Given the description of an element on the screen output the (x, y) to click on. 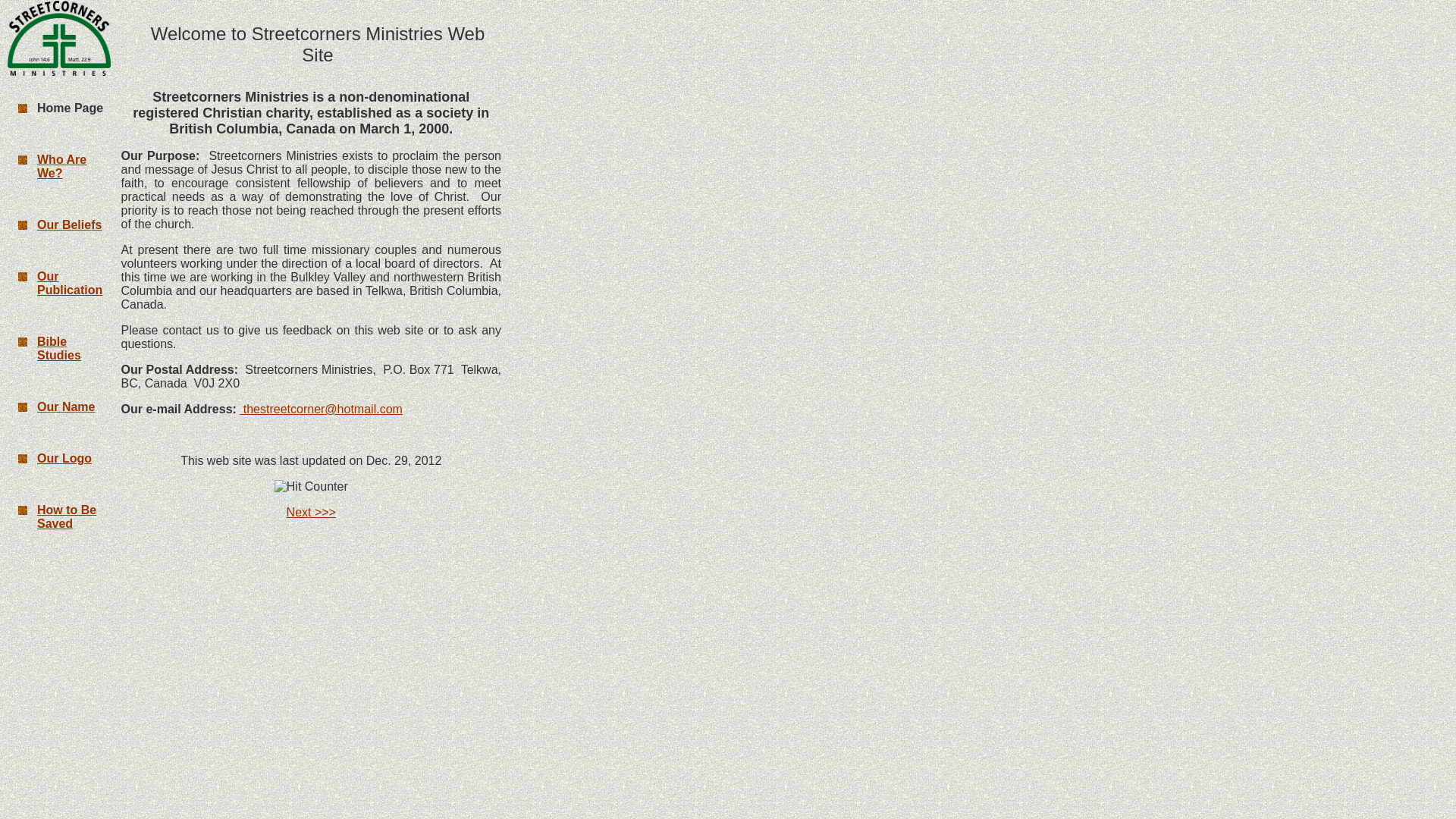
Our Beliefs (69, 224)
Our Name (65, 406)
How to Be Saved (66, 516)
Our Logo (64, 458)
Bible Studies (59, 347)
Our Publication (69, 283)
Who Are We? (61, 166)
